Given the description of an element on the screen output the (x, y) to click on. 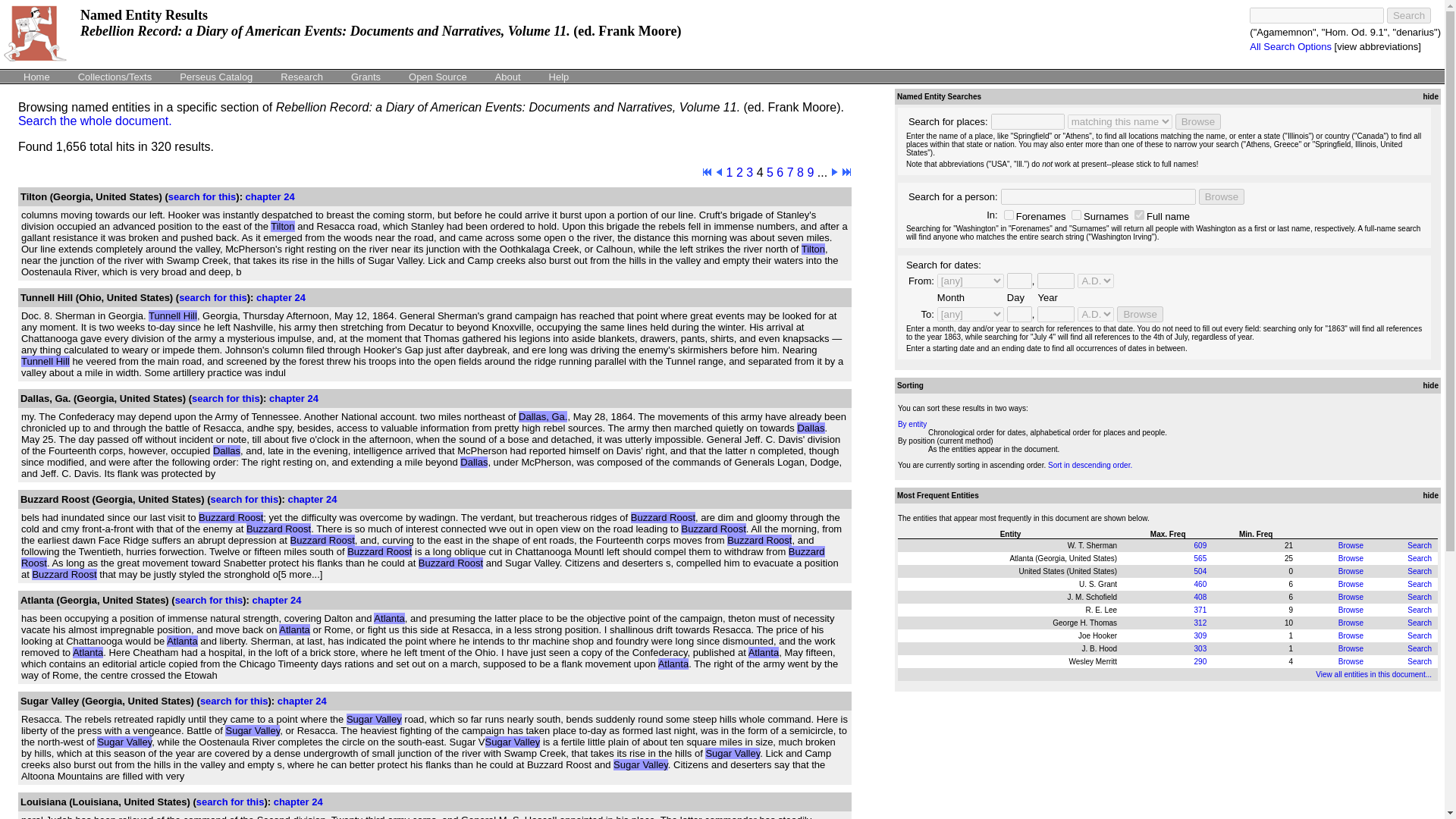
Search (1419, 610)
Grants (365, 76)
408 (1200, 596)
hide (1429, 96)
About (507, 76)
Browse (1350, 571)
hide (1429, 385)
By entity (912, 424)
Home (36, 76)
on (1076, 214)
view abbreviations (1377, 46)
Perseus Catalog (215, 76)
Browse (1197, 121)
Browse (1138, 314)
All Search Options (1290, 46)
